Given the description of an element on the screen output the (x, y) to click on. 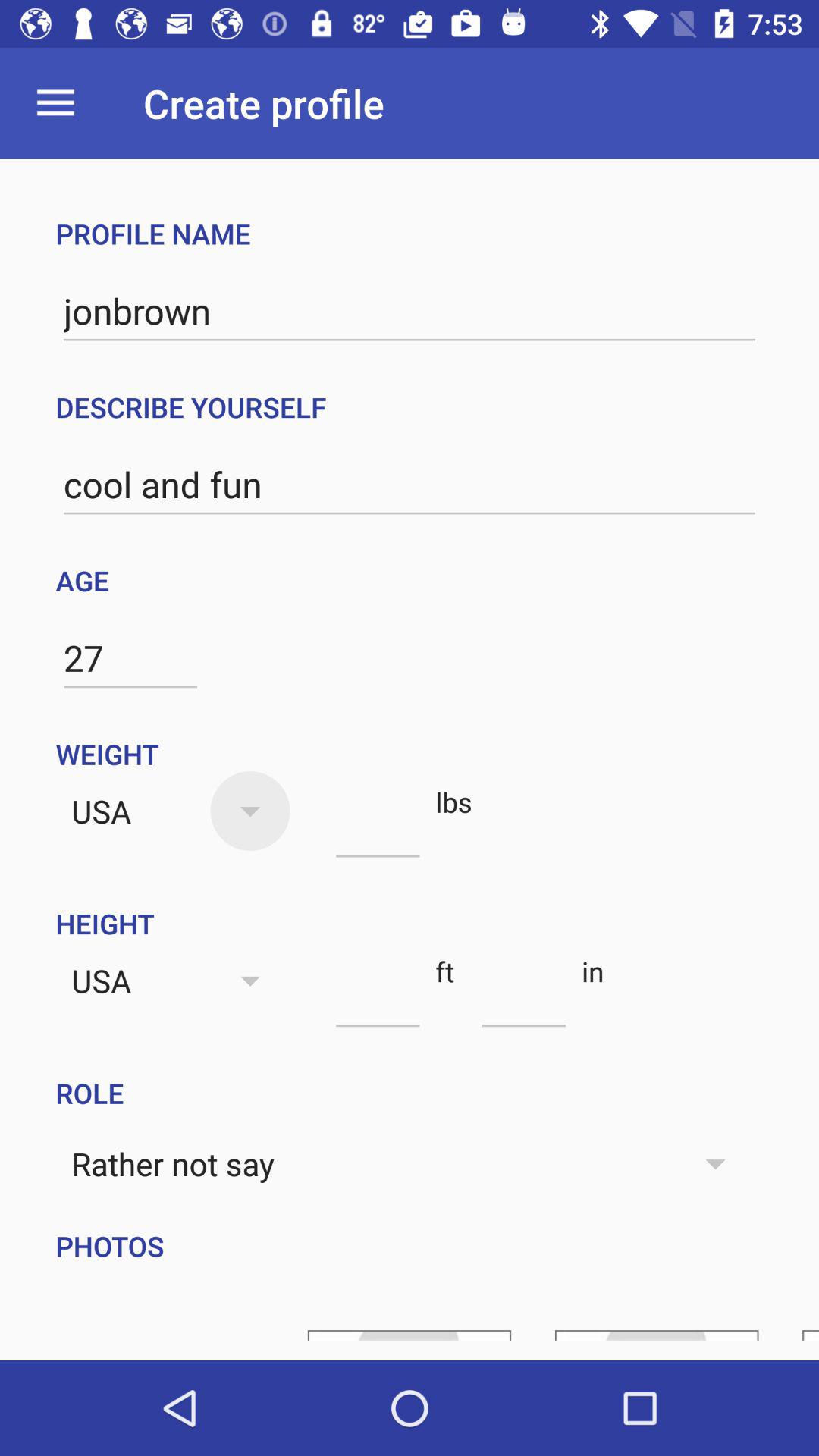
enter number (377, 830)
